Given the description of an element on the screen output the (x, y) to click on. 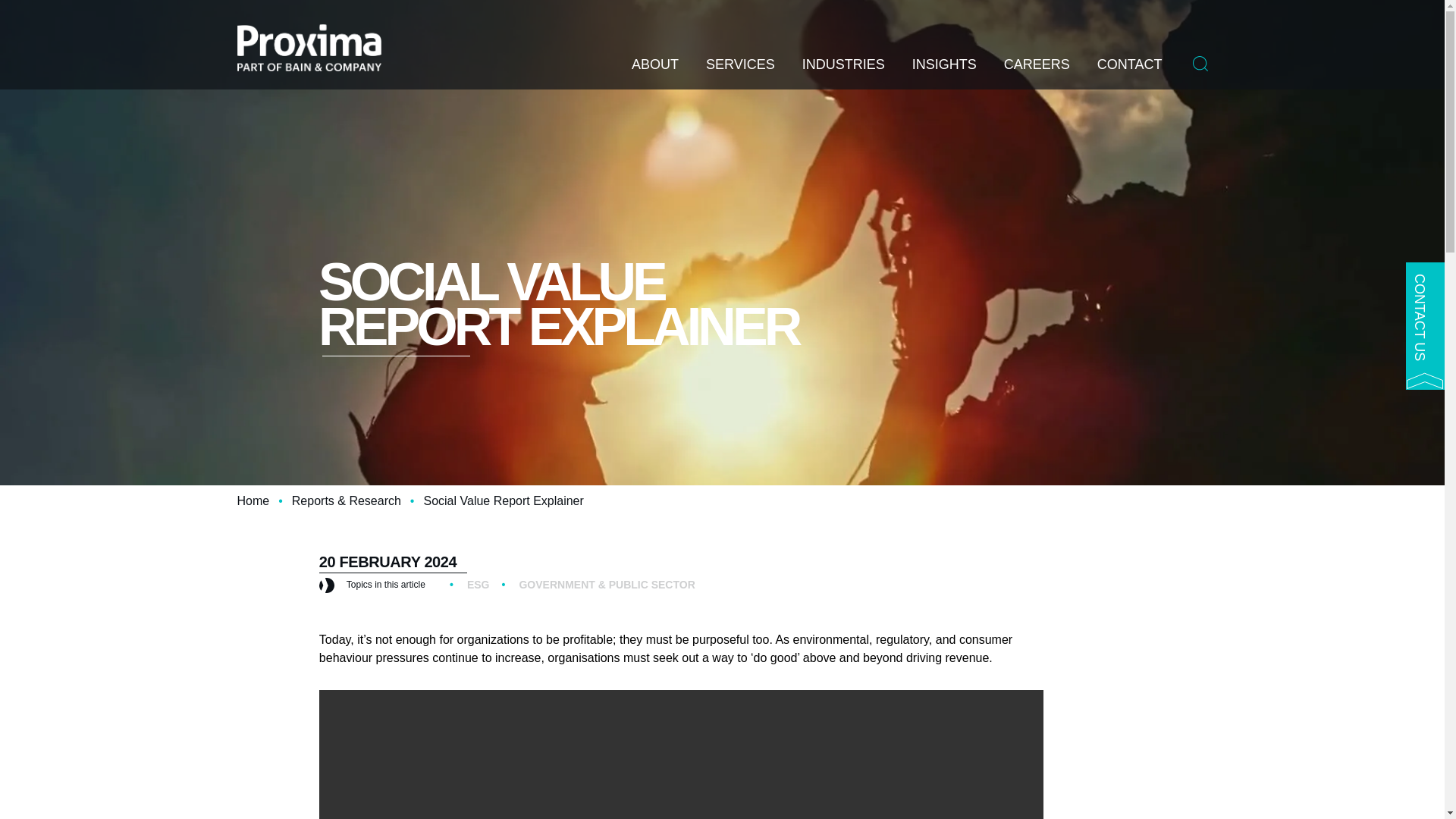
SERVICES (741, 73)
ABOUT (655, 73)
